Given the description of an element on the screen output the (x, y) to click on. 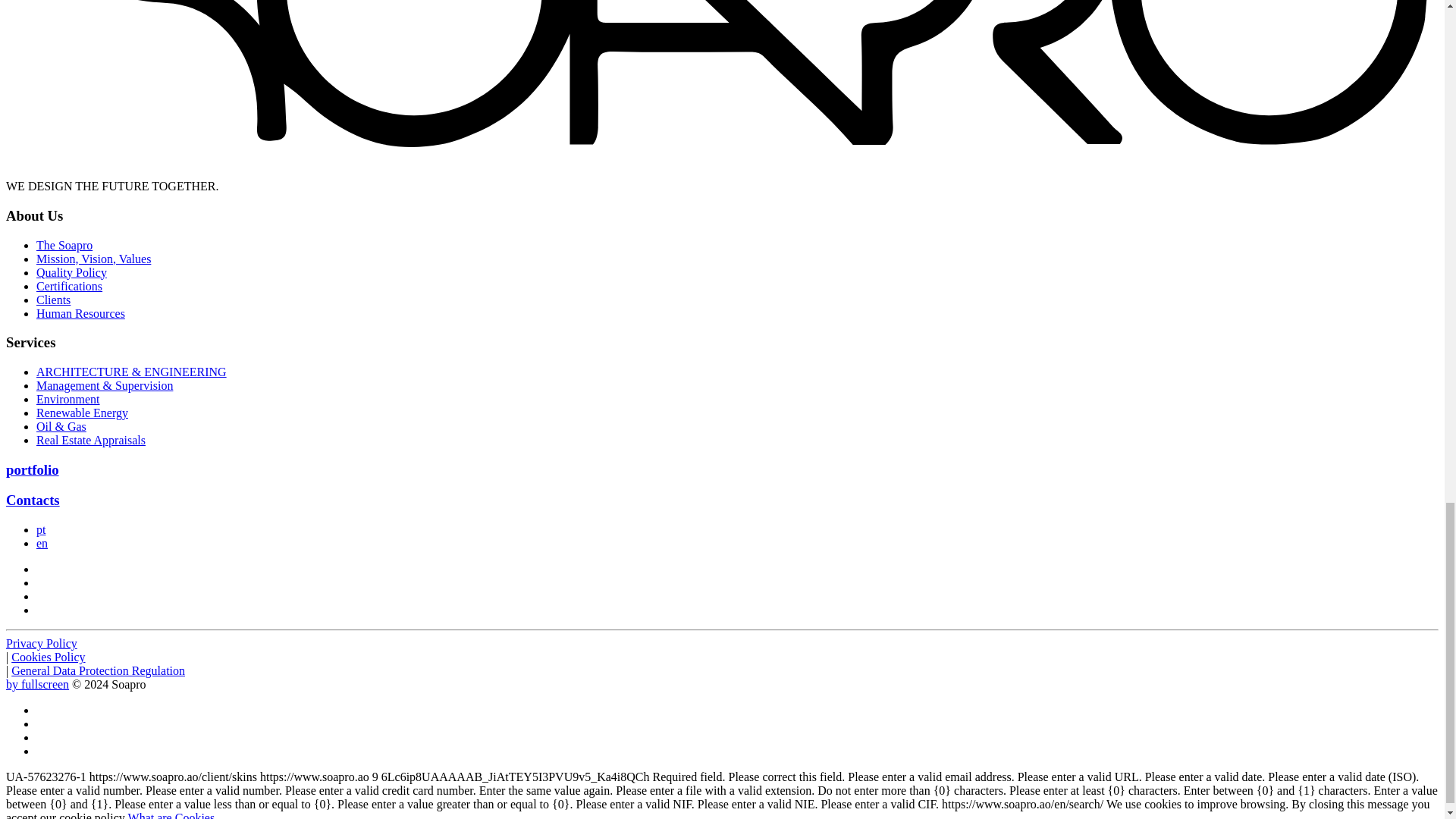
Mission, Vision, Values (93, 258)
Certifications (68, 286)
Quality Policy (71, 272)
Real Estate Appraisals (90, 440)
Clients (52, 299)
The Soapro (64, 245)
Renewable Energy (82, 412)
Human Resources (80, 313)
Environment (68, 399)
portfolio (32, 469)
